Given the description of an element on the screen output the (x, y) to click on. 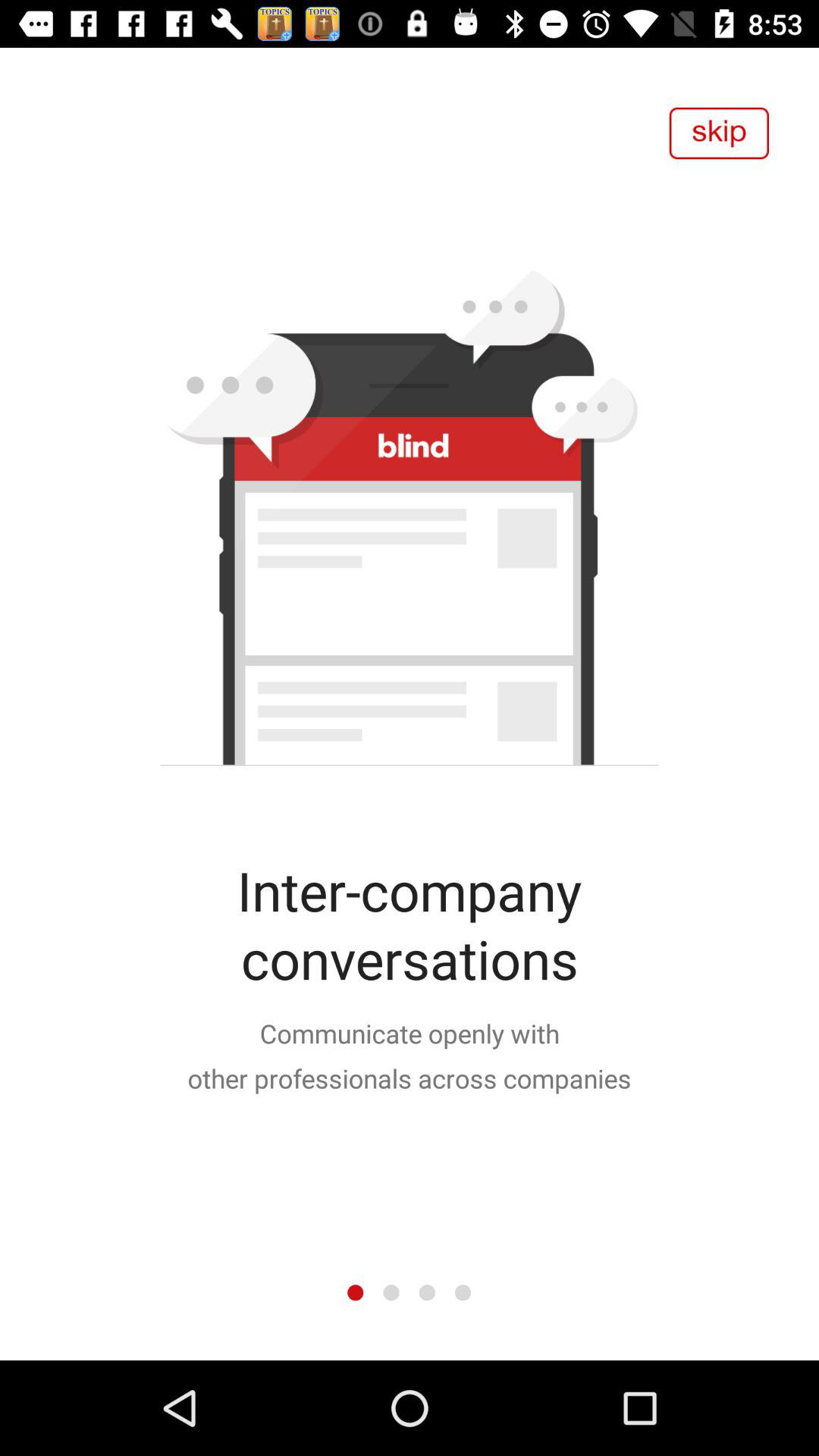
skip this (718, 133)
